Given the description of an element on the screen output the (x, y) to click on. 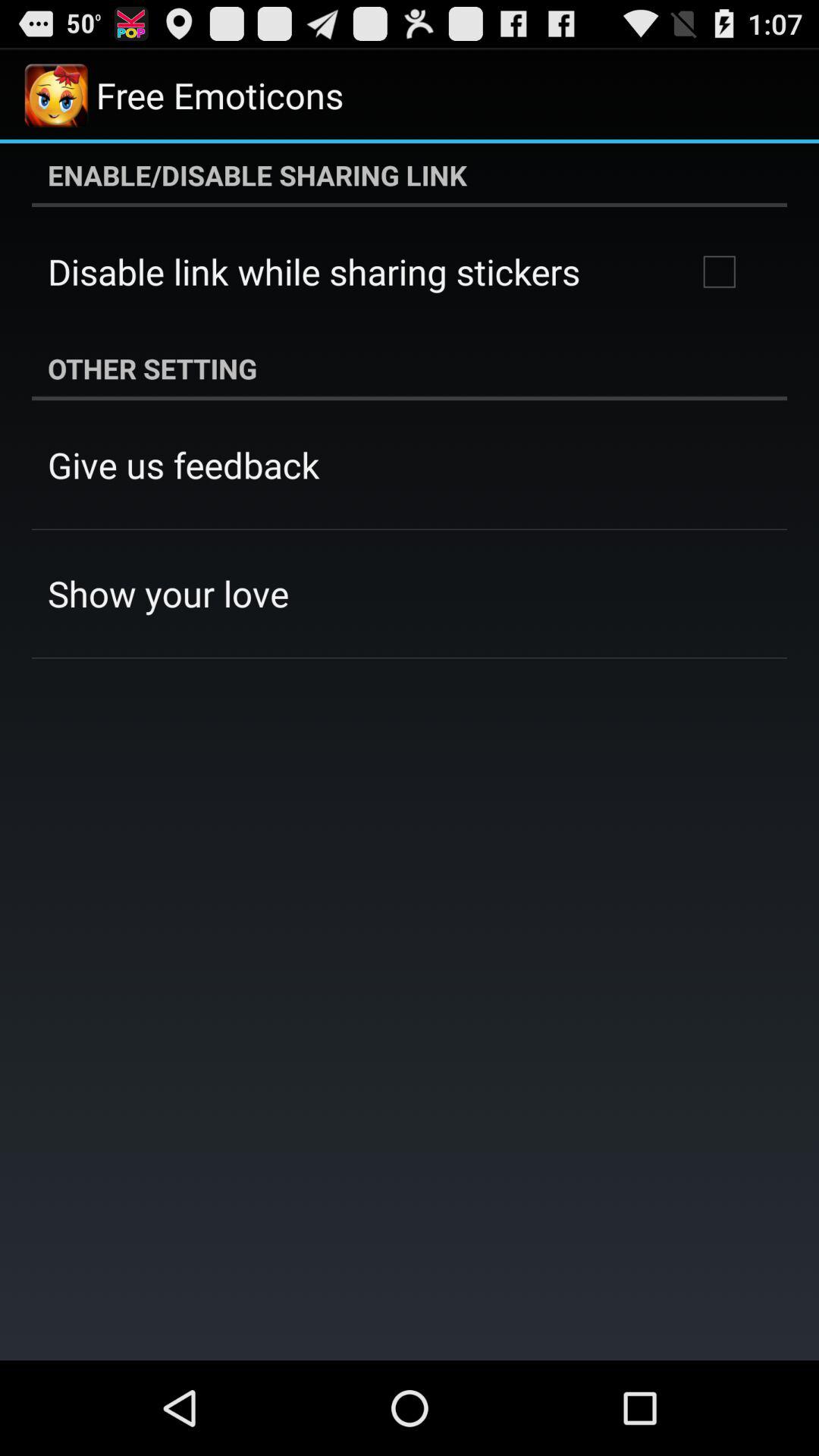
launch the item at the top right corner (719, 271)
